Given the description of an element on the screen output the (x, y) to click on. 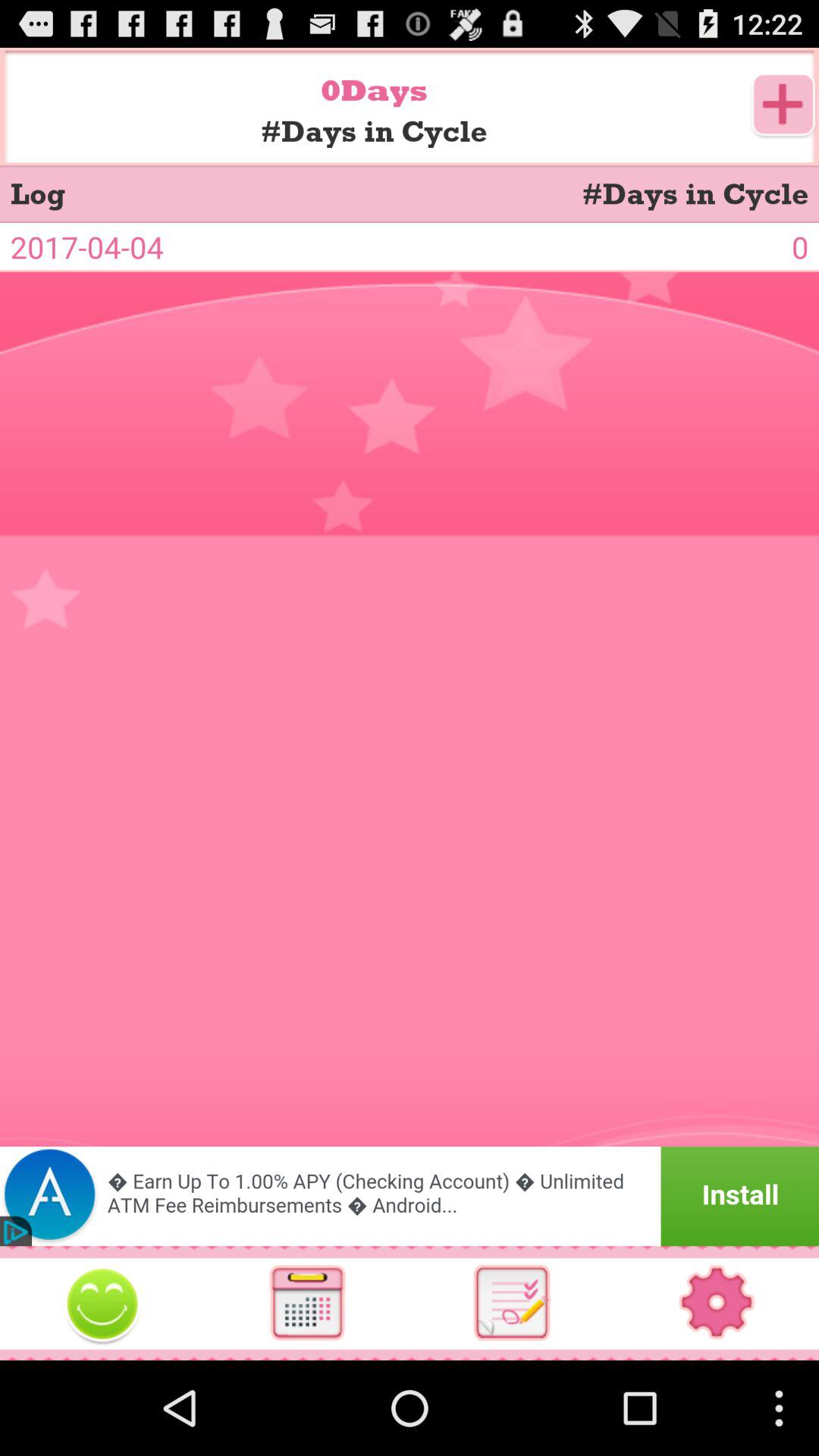
select the widget (102, 1302)
